Given the description of an element on the screen output the (x, y) to click on. 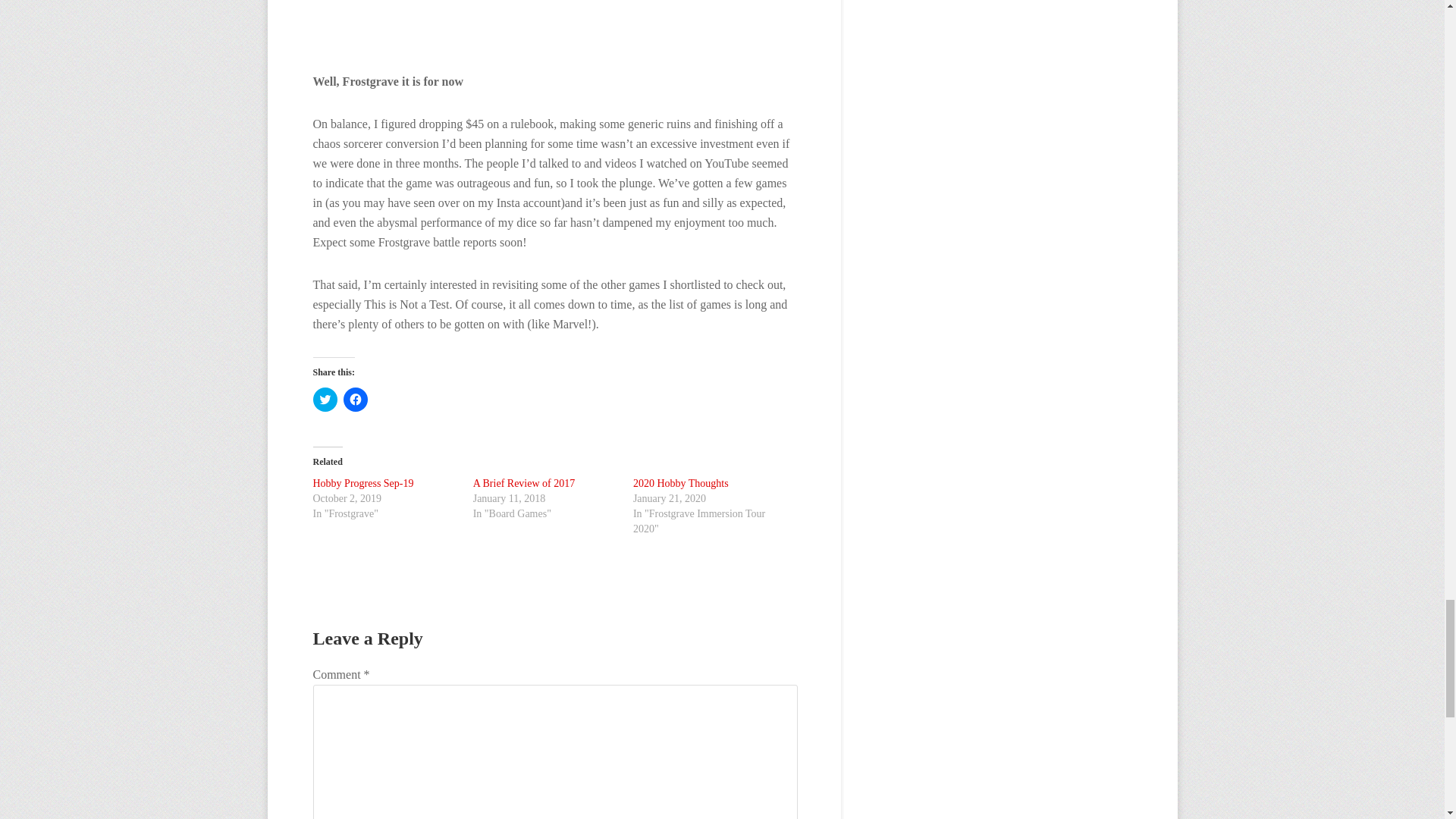
Hobby Progress Sep-19 (363, 482)
Click to share on Twitter (324, 399)
Hobby Progress Sep-19 (363, 482)
2020 Hobby Thoughts (681, 482)
2020 Hobby Thoughts (681, 482)
A Brief Review of 2017 (524, 482)
Click to share on Facebook (354, 399)
A Brief Review of 2017 (524, 482)
